Given the description of an element on the screen output the (x, y) to click on. 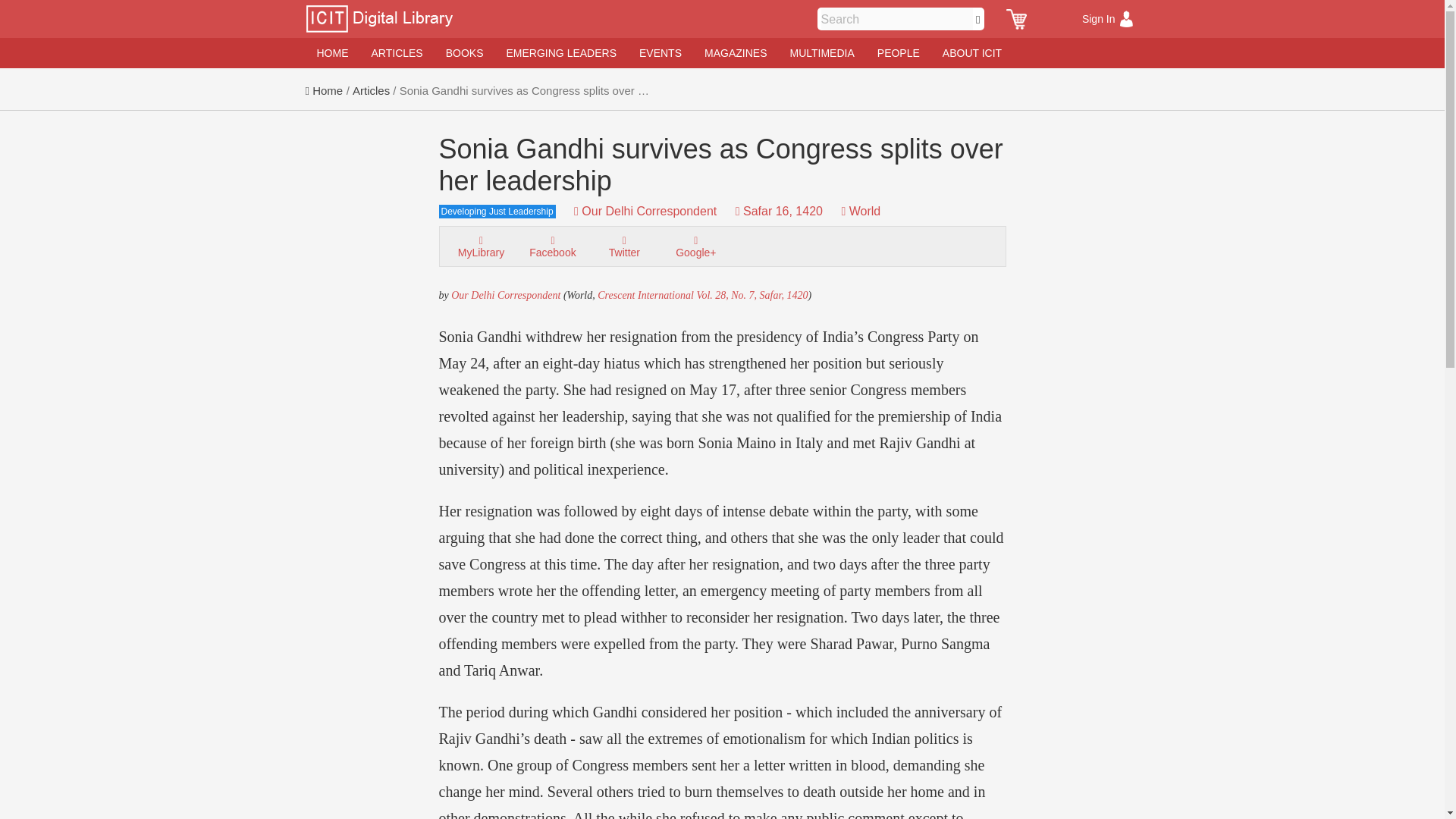
ABOUT ICIT (972, 52)
PEOPLE (898, 52)
HOME (331, 52)
EVENTS (660, 52)
MULTIMEDIA (820, 52)
Share on Facebook (552, 246)
MAGAZINES (735, 52)
Share on Twitter (623, 246)
ARTICLES (396, 52)
Developing Just Leadership (504, 205)
